Given the description of an element on the screen output the (x, y) to click on. 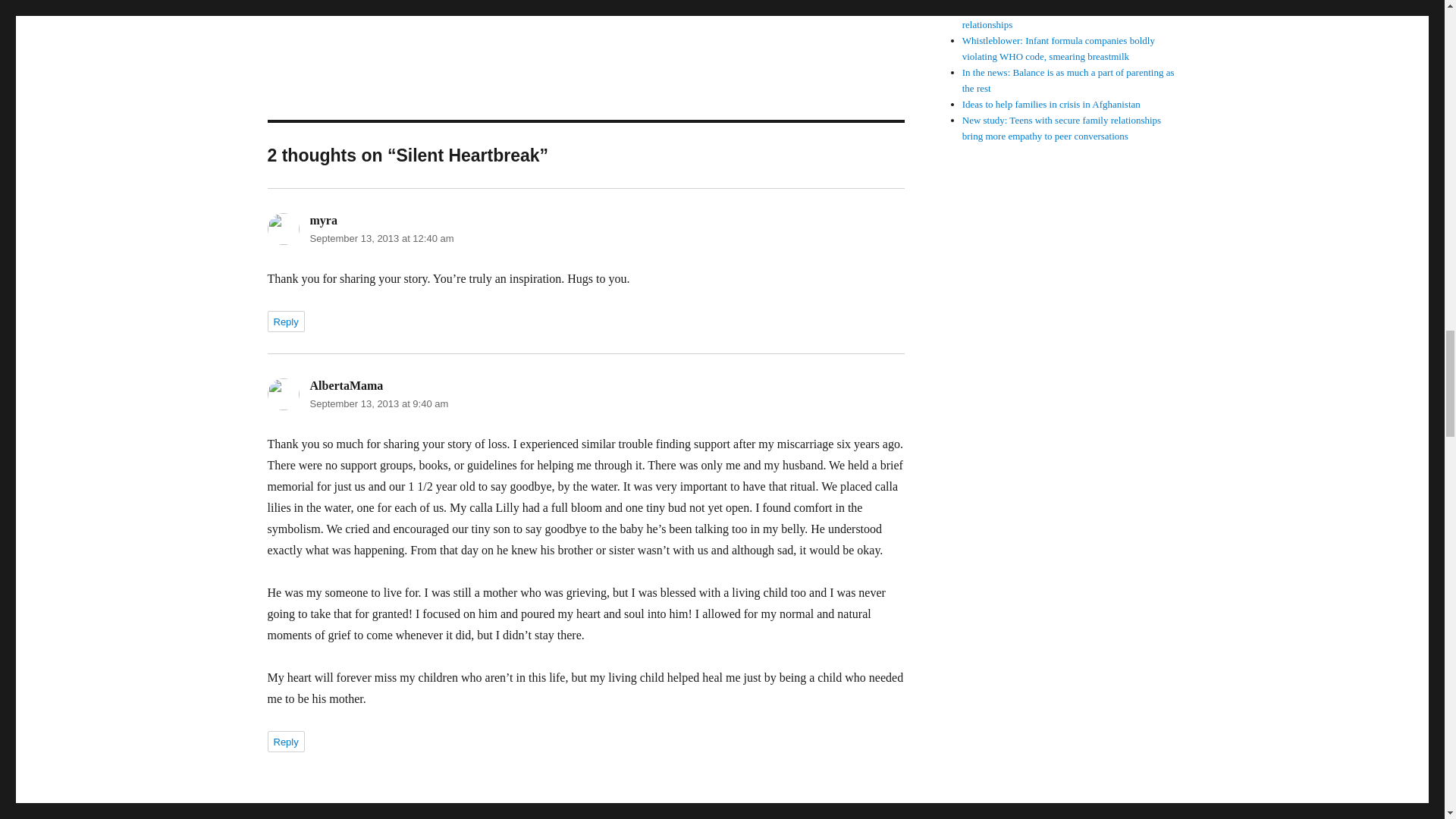
September 13, 2013 at 9:40 am (378, 403)
Reply (285, 321)
Reply (285, 741)
September 13, 2013 at 12:40 am (380, 238)
